Given the description of an element on the screen output the (x, y) to click on. 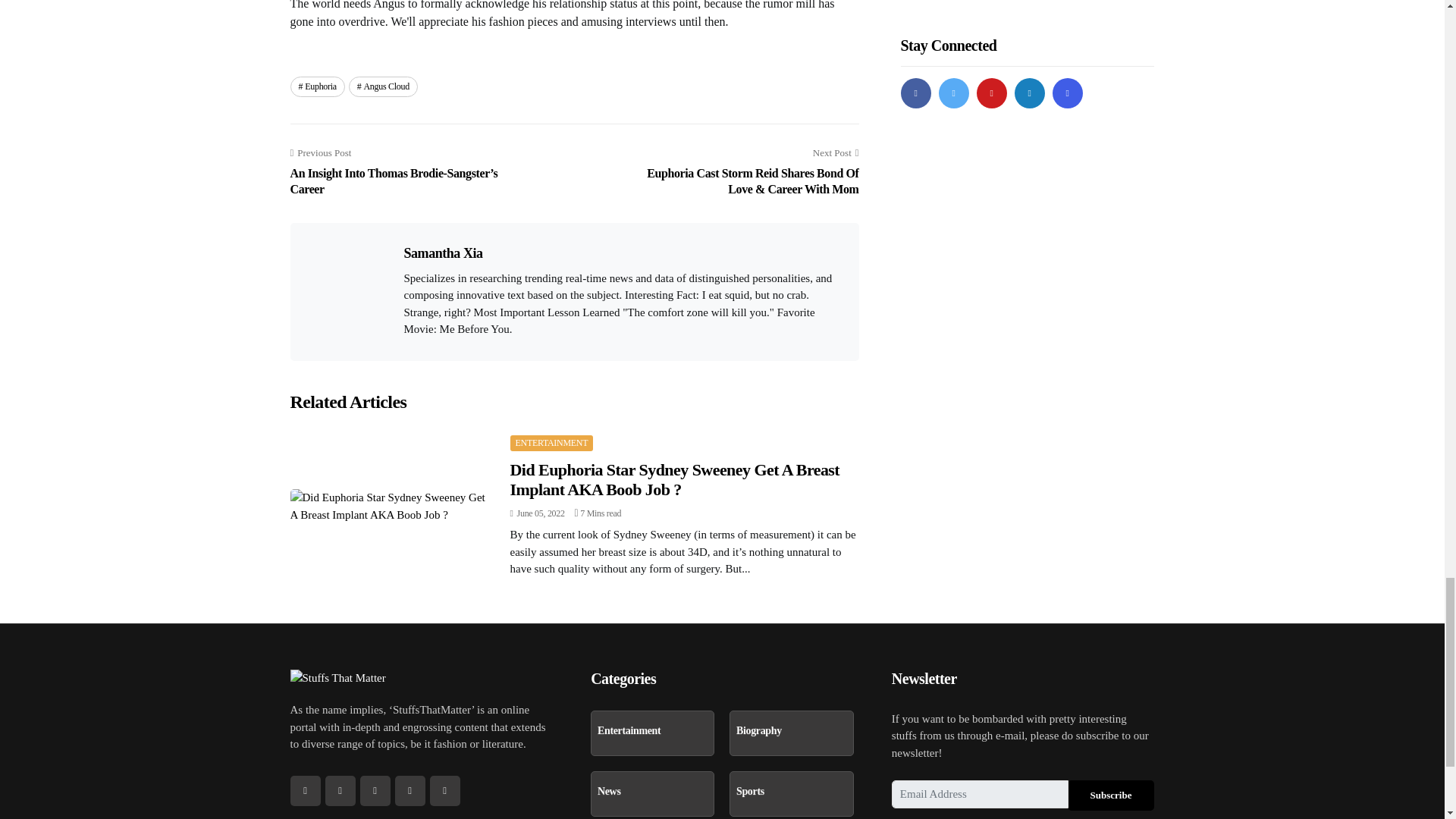
June 05, 2022 12:48 PM (536, 512)
ENTERTAINMENT (550, 442)
